Given the description of an element on the screen output the (x, y) to click on. 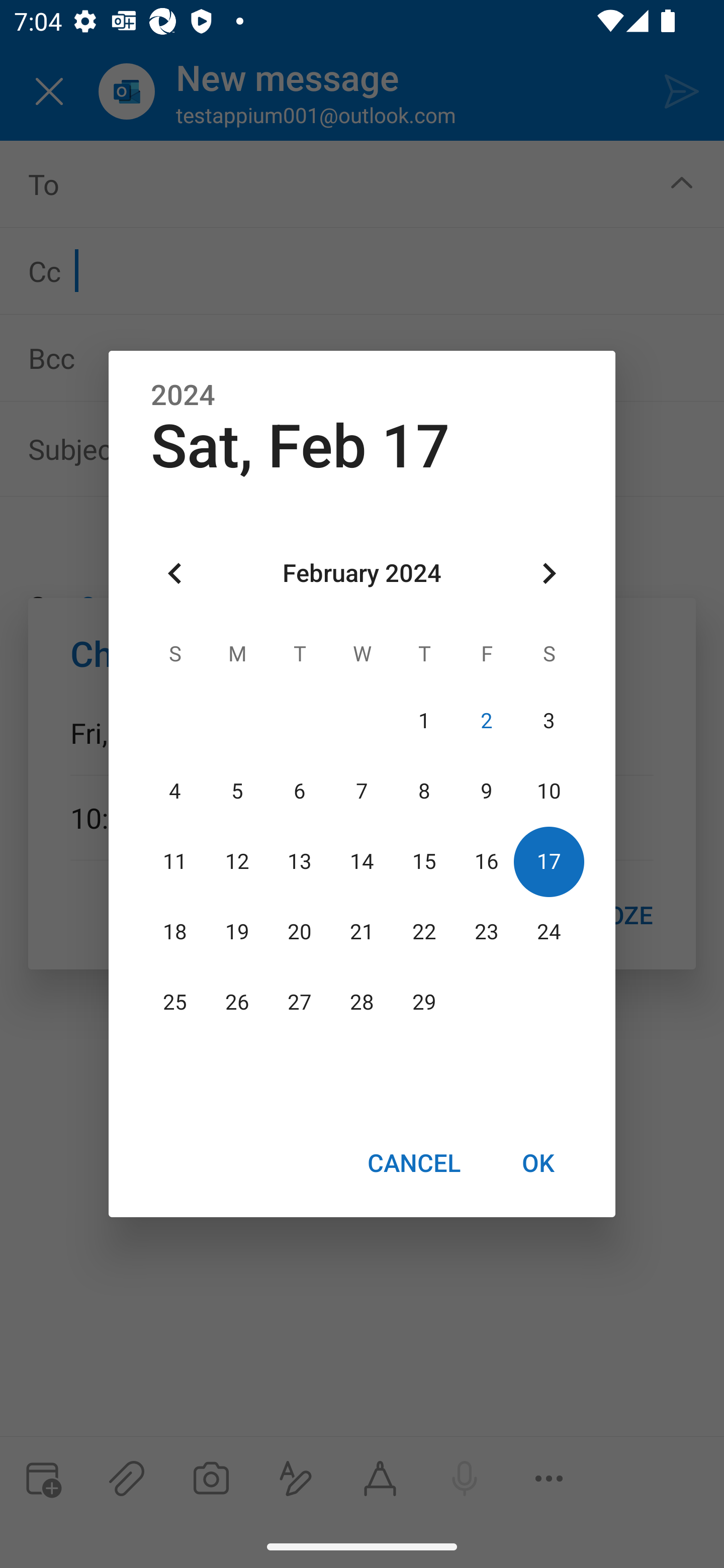
2024 (182, 395)
Sat, Feb 17 (300, 446)
Previous month (174, 573)
Next month (548, 573)
1 01 February 2024 (424, 720)
2 02 February 2024 (486, 720)
3 03 February 2024 (548, 720)
4 04 February 2024 (175, 790)
5 05 February 2024 (237, 790)
6 06 February 2024 (299, 790)
7 07 February 2024 (361, 790)
8 08 February 2024 (424, 790)
9 09 February 2024 (486, 790)
10 10 February 2024 (548, 790)
11 11 February 2024 (175, 861)
12 12 February 2024 (237, 861)
13 13 February 2024 (299, 861)
14 14 February 2024 (361, 861)
15 15 February 2024 (424, 861)
16 16 February 2024 (486, 861)
17 17 February 2024 (548, 861)
18 18 February 2024 (175, 931)
19 19 February 2024 (237, 931)
20 20 February 2024 (299, 931)
21 21 February 2024 (361, 931)
22 22 February 2024 (424, 931)
23 23 February 2024 (486, 931)
24 24 February 2024 (548, 931)
25 25 February 2024 (175, 1002)
26 26 February 2024 (237, 1002)
27 27 February 2024 (299, 1002)
28 28 February 2024 (361, 1002)
29 29 February 2024 (424, 1002)
CANCEL (413, 1162)
OK (537, 1162)
